Given the description of an element on the screen output the (x, y) to click on. 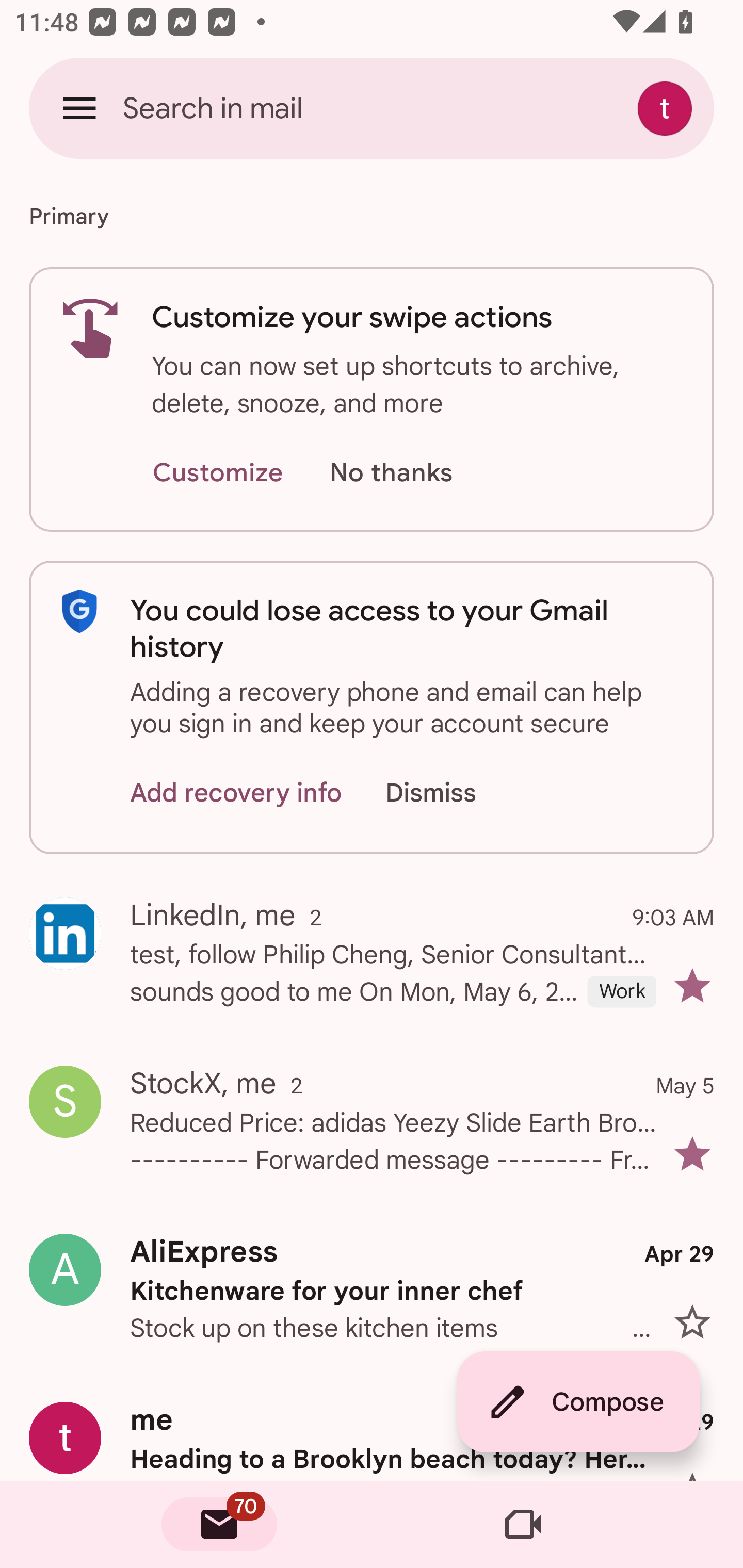
Open navigation drawer (79, 108)
Customize (217, 473)
No thanks (390, 473)
Add recovery info (235, 792)
Dismiss (449, 792)
Compose (577, 1401)
Meet (523, 1524)
